Given the description of an element on the screen output the (x, y) to click on. 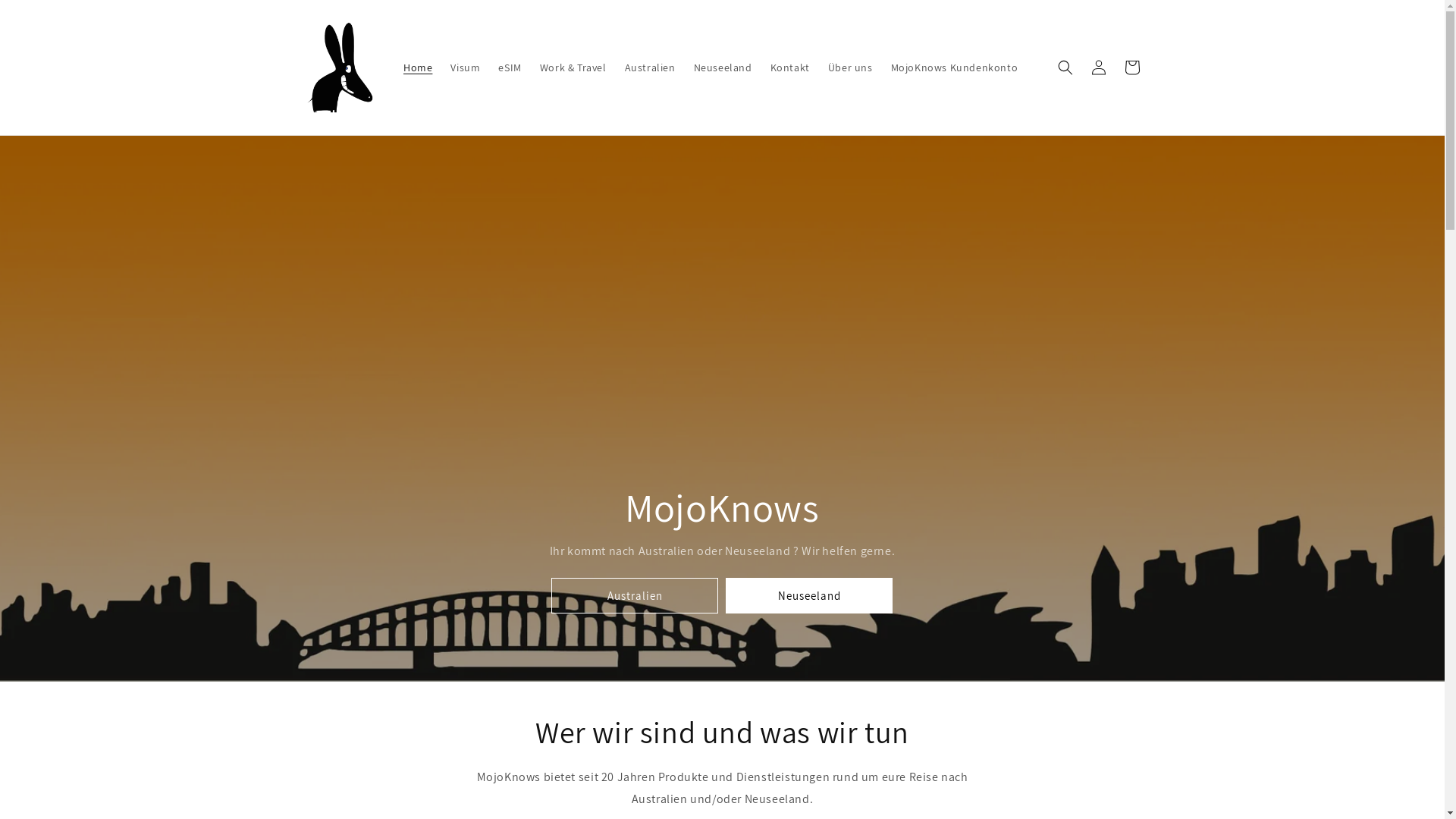
MojoKnows Kundenkonto Element type: text (954, 67)
Visum Element type: text (465, 67)
Australien Element type: text (634, 595)
Neuseeland Element type: text (808, 595)
Warenkorb Element type: text (1131, 67)
Australien Element type: text (649, 67)
Kontakt Element type: text (790, 67)
Einloggen Element type: text (1097, 67)
Neuseeland Element type: text (722, 67)
Work & Travel Element type: text (572, 67)
eSIM Element type: text (509, 67)
Home Element type: text (417, 67)
